Given the description of an element on the screen output the (x, y) to click on. 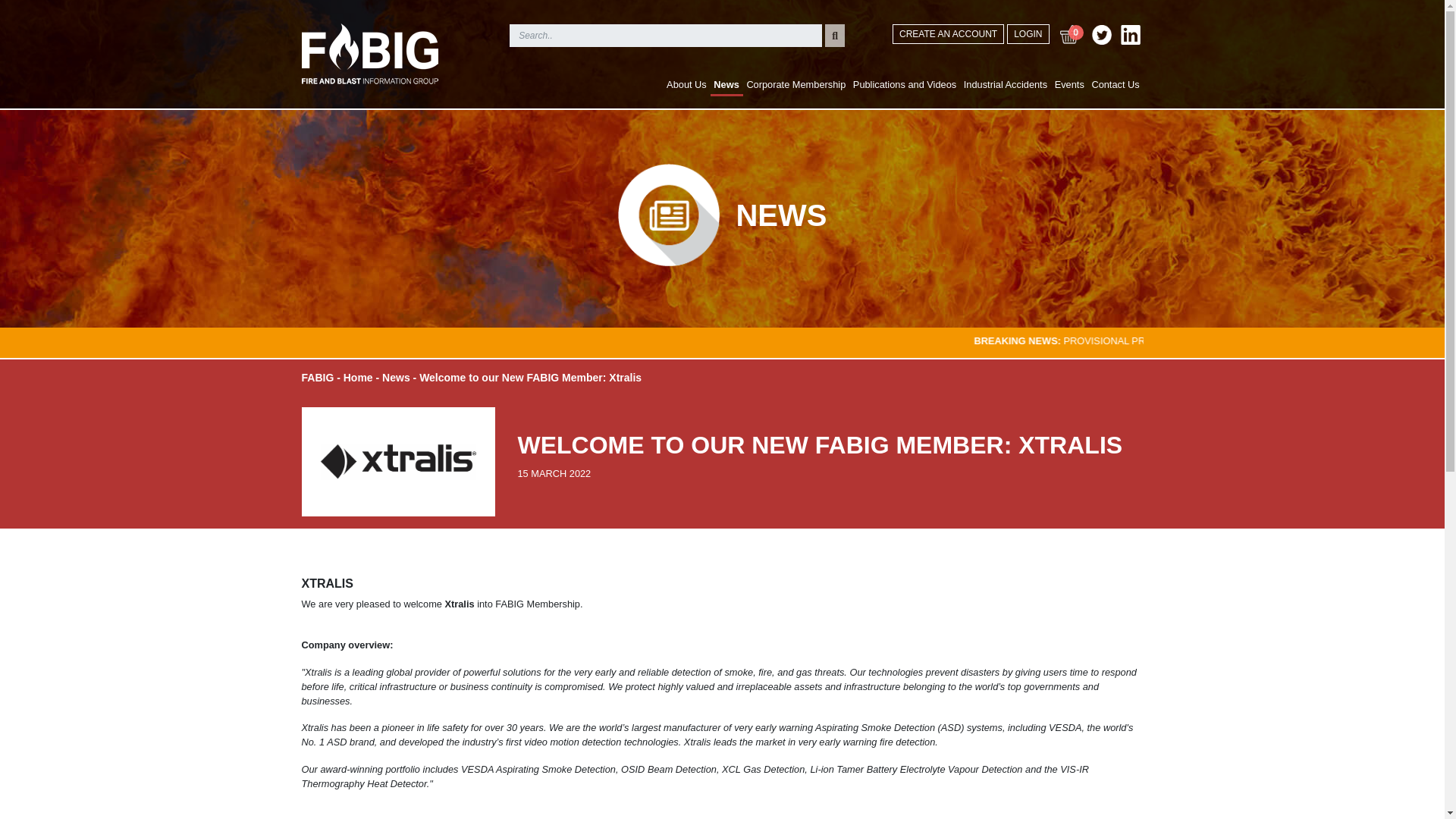
Corporate Membership (795, 84)
Industrial Accidents (1005, 84)
Contact Us (1114, 84)
About Us (686, 84)
Events (1069, 84)
0 (1068, 43)
CREATE AN ACCOUNT (948, 34)
News (726, 85)
Publications Basket (1068, 43)
Publications and Videos (903, 84)
